Given the description of an element on the screen output the (x, y) to click on. 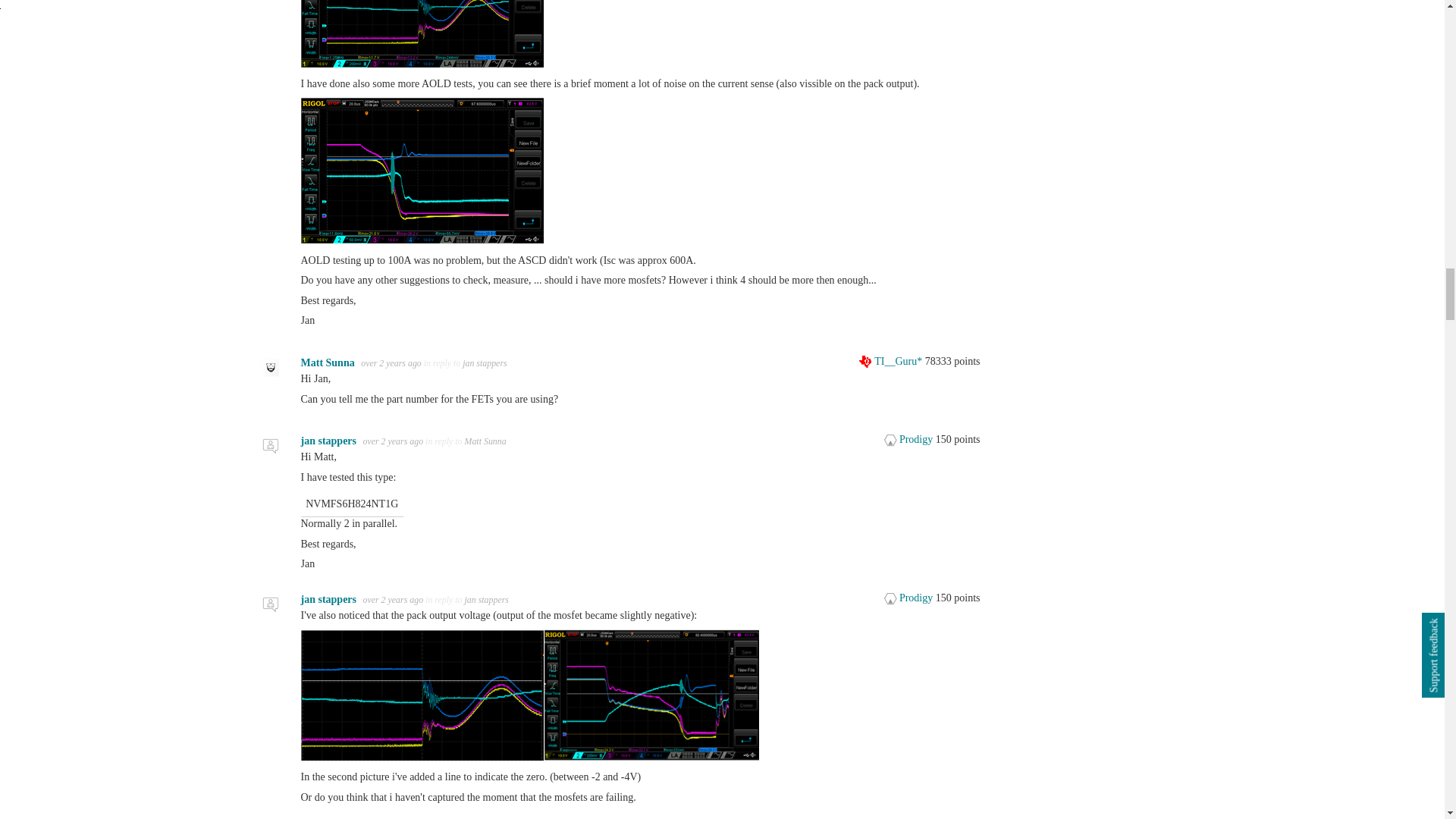
NVMFS6H824NT1G (646, 504)
